Given the description of an element on the screen output the (x, y) to click on. 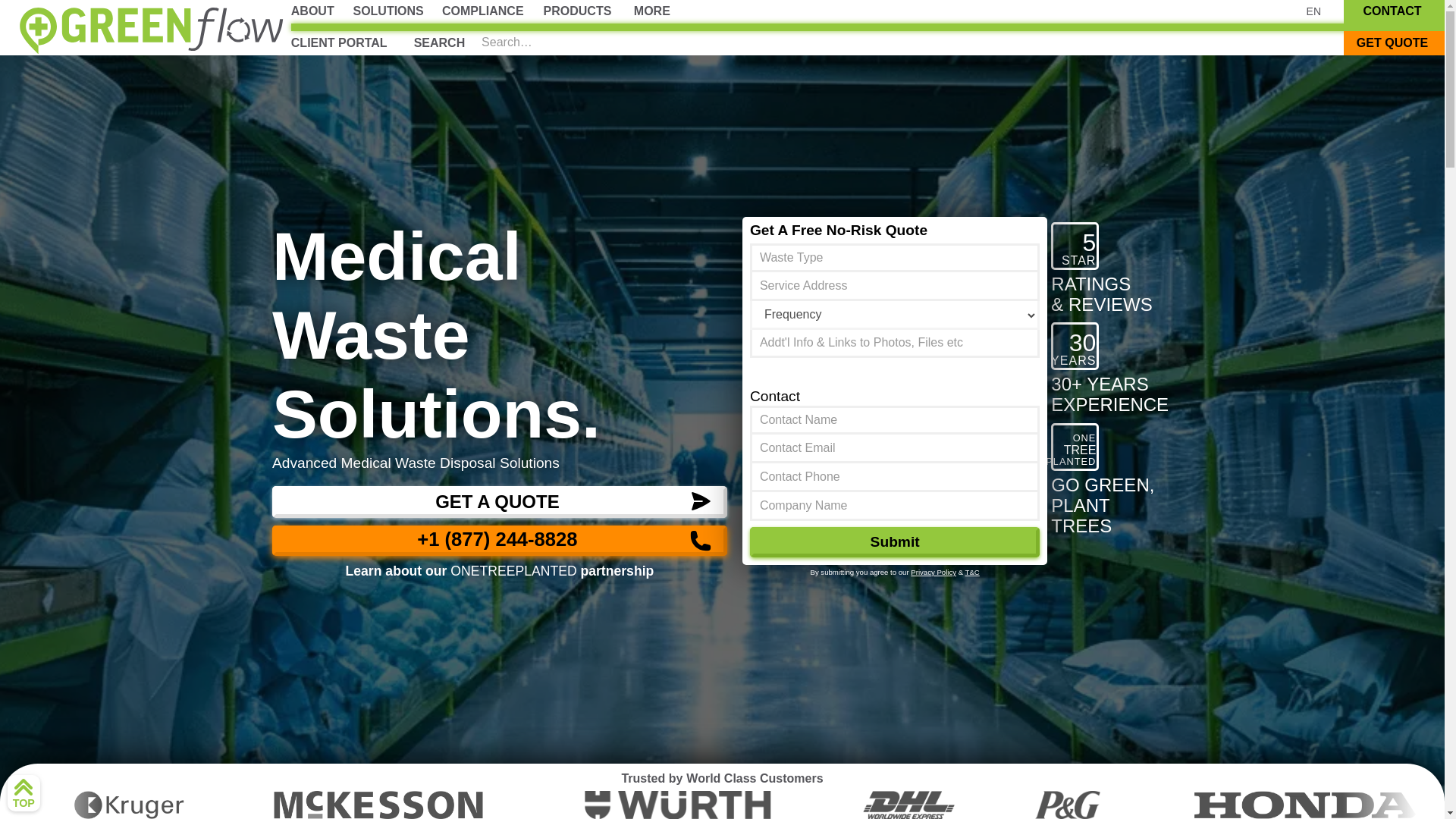
SOLUTIONS (387, 11)
Submit (894, 542)
SEARCH (439, 42)
SEARCH (439, 42)
ABOUT (312, 11)
